Given the description of an element on the screen output the (x, y) to click on. 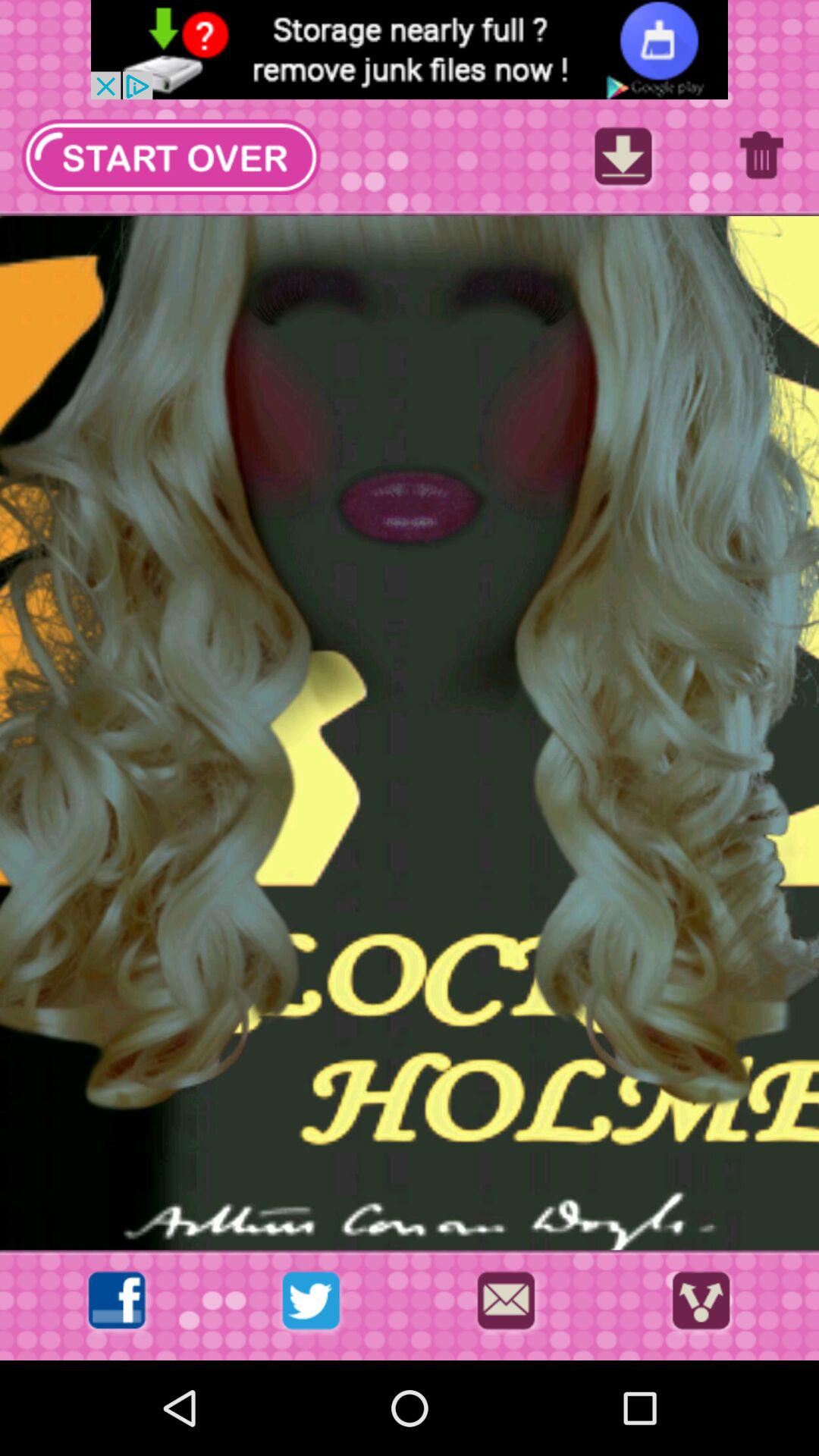
go to share (700, 1305)
